Given the description of an element on the screen output the (x, y) to click on. 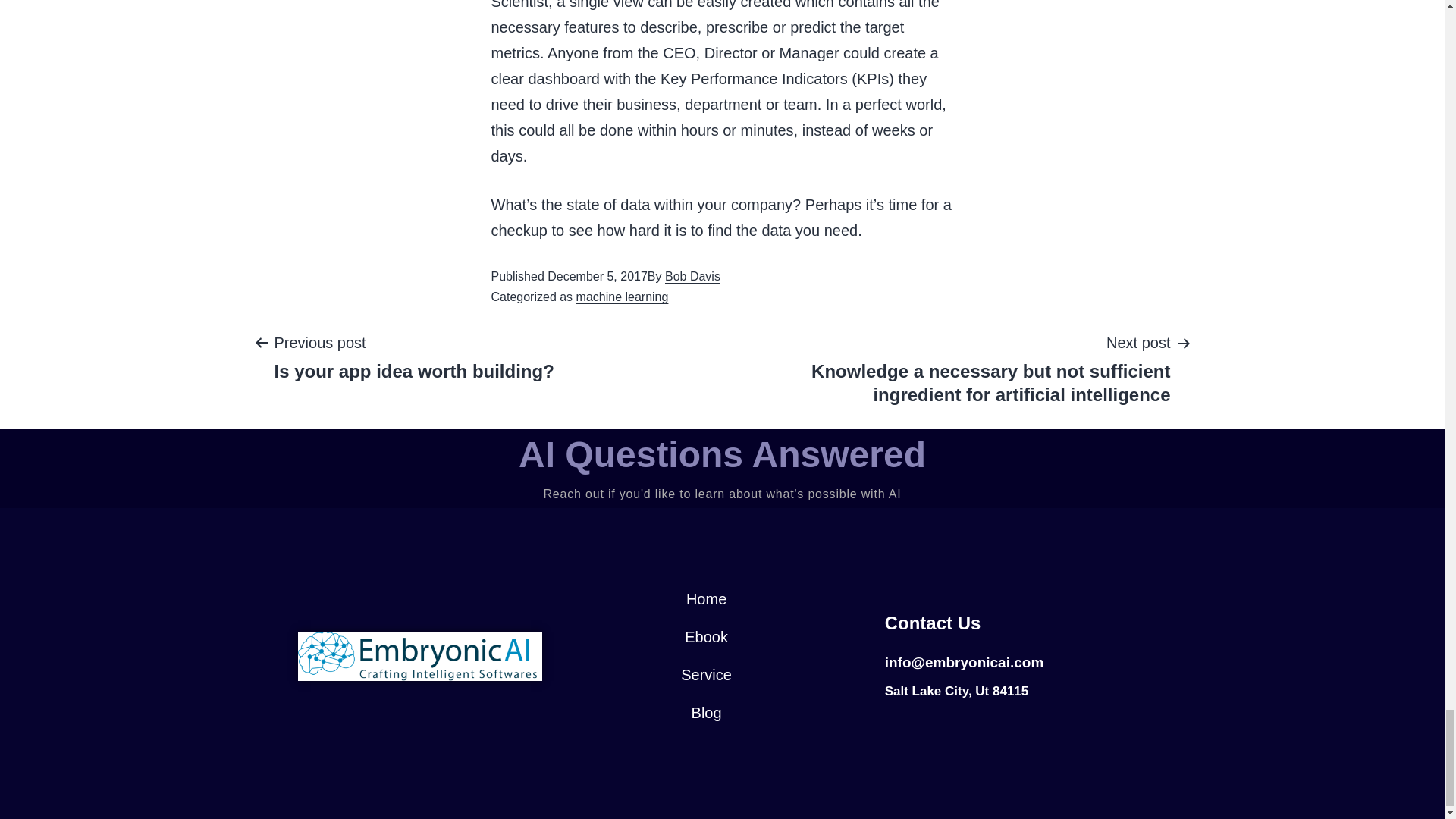
Salt Lake City, Ut 84115 (957, 690)
Blog (705, 712)
Ebook (705, 637)
Service (705, 674)
machine learning (622, 296)
Home (705, 598)
Bob Davis (692, 276)
